Given the description of an element on the screen output the (x, y) to click on. 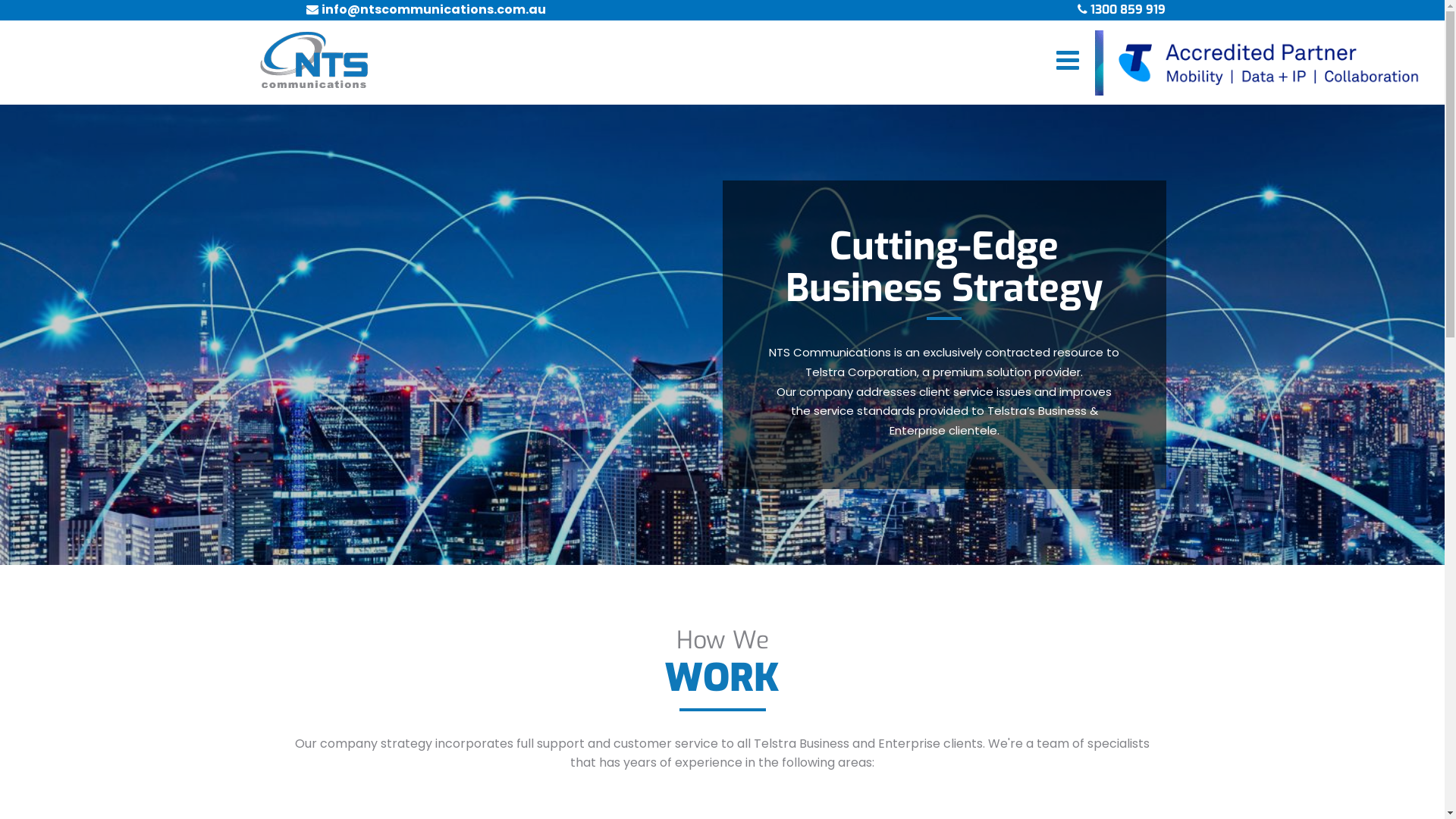
1300 859 919 Element type: text (1127, 9)
info@ntscommunications.com.au Element type: text (433, 9)
